Given the description of an element on the screen output the (x, y) to click on. 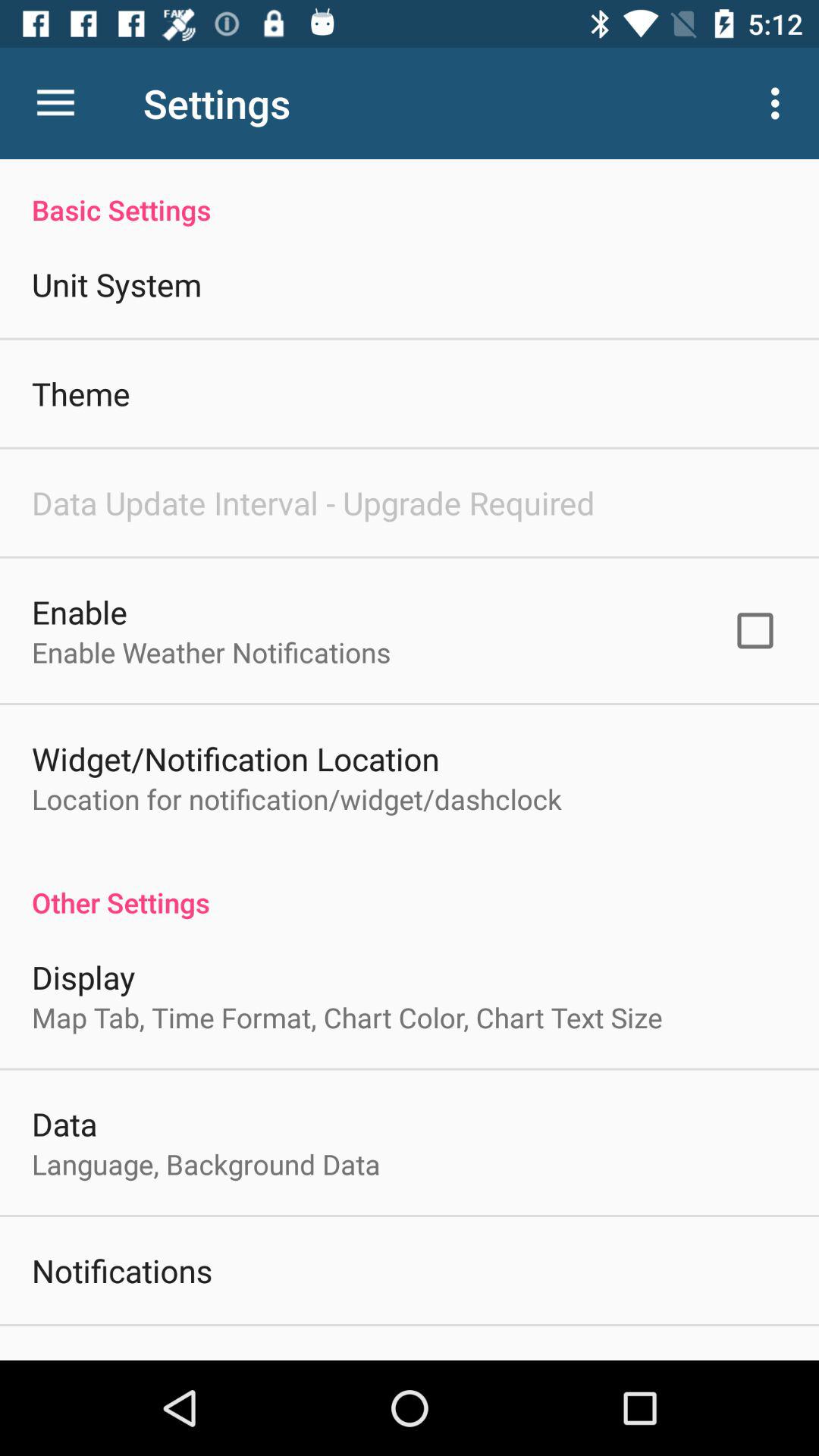
turn on the item below the basic settings icon (755, 630)
